Given the description of an element on the screen output the (x, y) to click on. 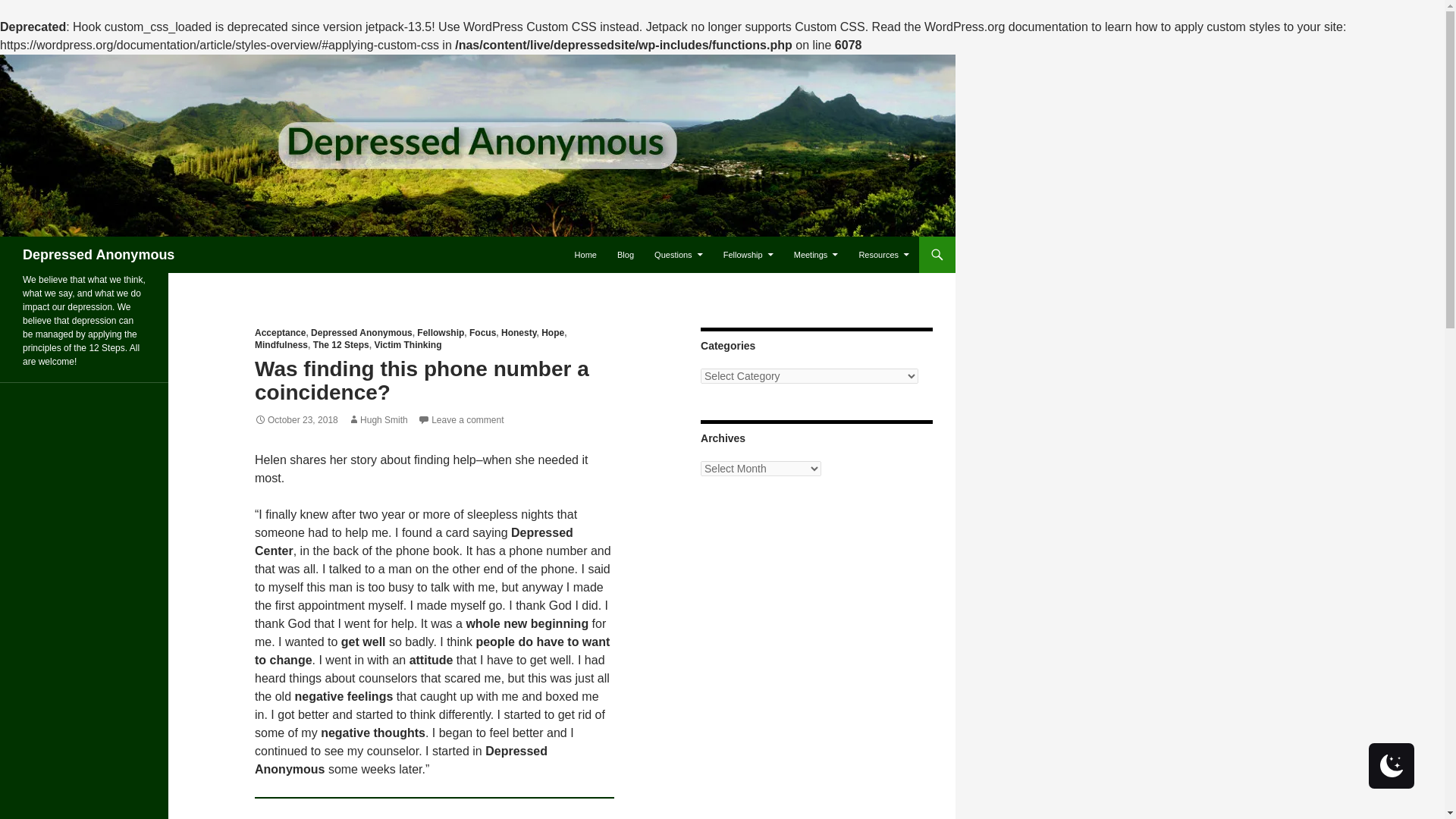
Fellowship (440, 332)
Home (585, 254)
Acceptance (279, 332)
Meetings (815, 254)
Fellowship (748, 254)
Resources (883, 254)
Depressed Anonymous (361, 332)
Blog (625, 254)
Questions (678, 254)
Focus (482, 332)
Honesty (517, 332)
Depressed Anonymous (98, 254)
